Given the description of an element on the screen output the (x, y) to click on. 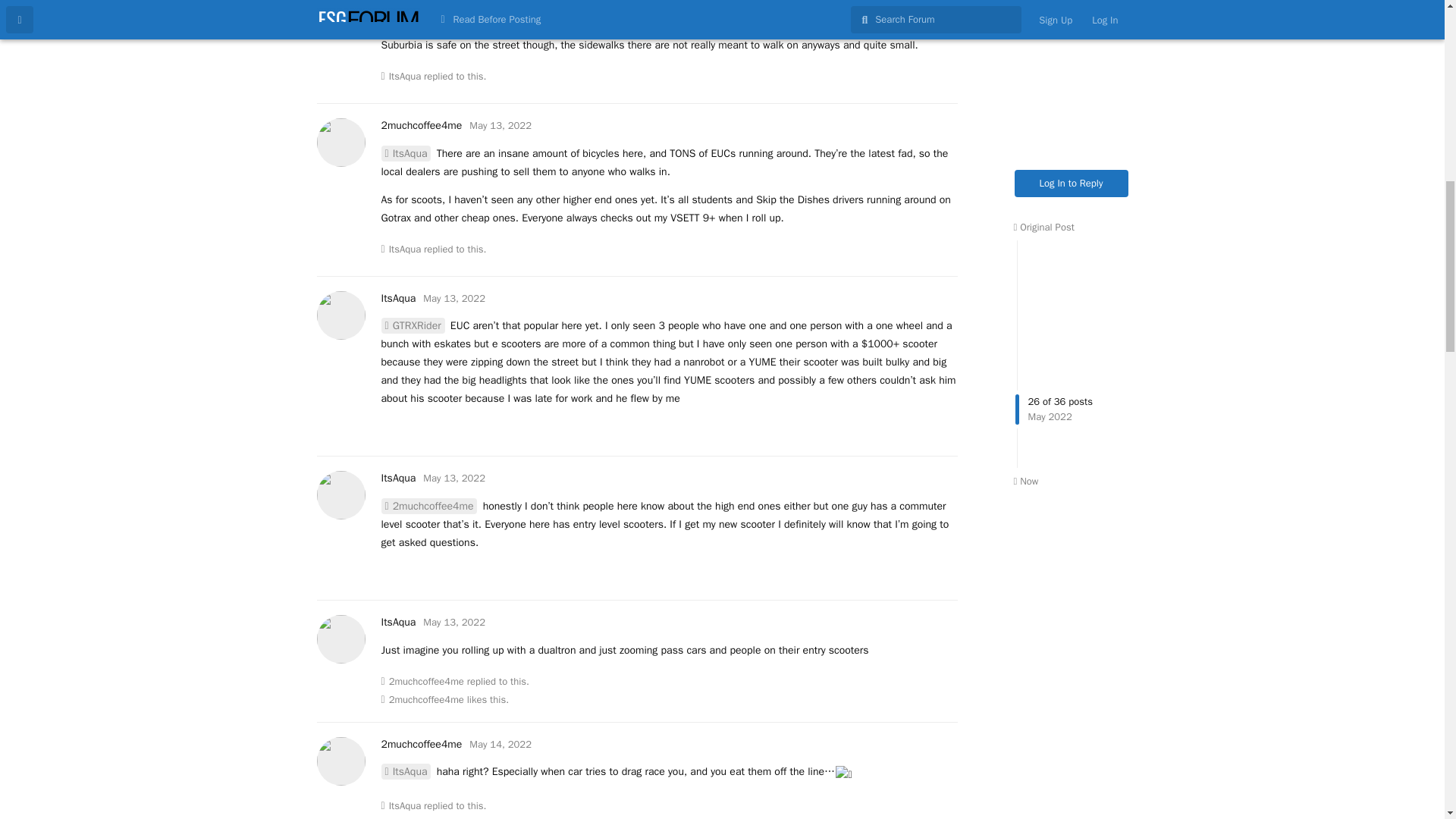
Friday, May 13, 2022 11:36 PM (453, 477)
Friday, May 13, 2022 11:40 PM (453, 621)
Friday, May 13, 2022 11:33 PM (453, 297)
Saturday, May 14, 2022 12:07 AM (499, 744)
Friday, May 13, 2022 10:14 PM (499, 124)
2muchcoffee4me (420, 124)
ItsAqua (405, 76)
